Given the description of an element on the screen output the (x, y) to click on. 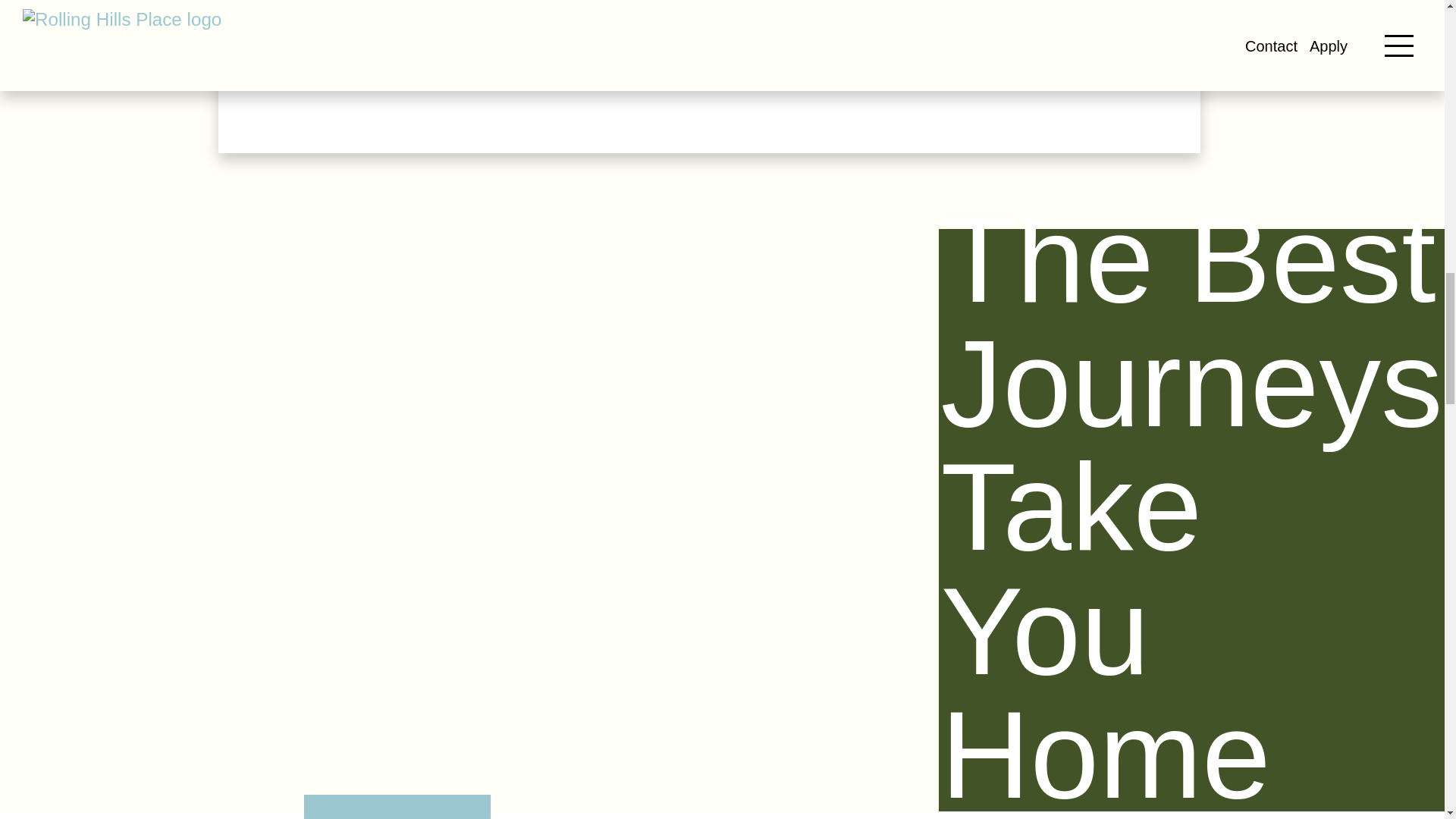
COMMUNITY AMENITIES (397, 806)
CANYON (1046, 806)
BECKET (829, 806)
SCHEDULE A TOUR (416, 59)
AVALON (614, 806)
